Given the description of an element on the screen output the (x, y) to click on. 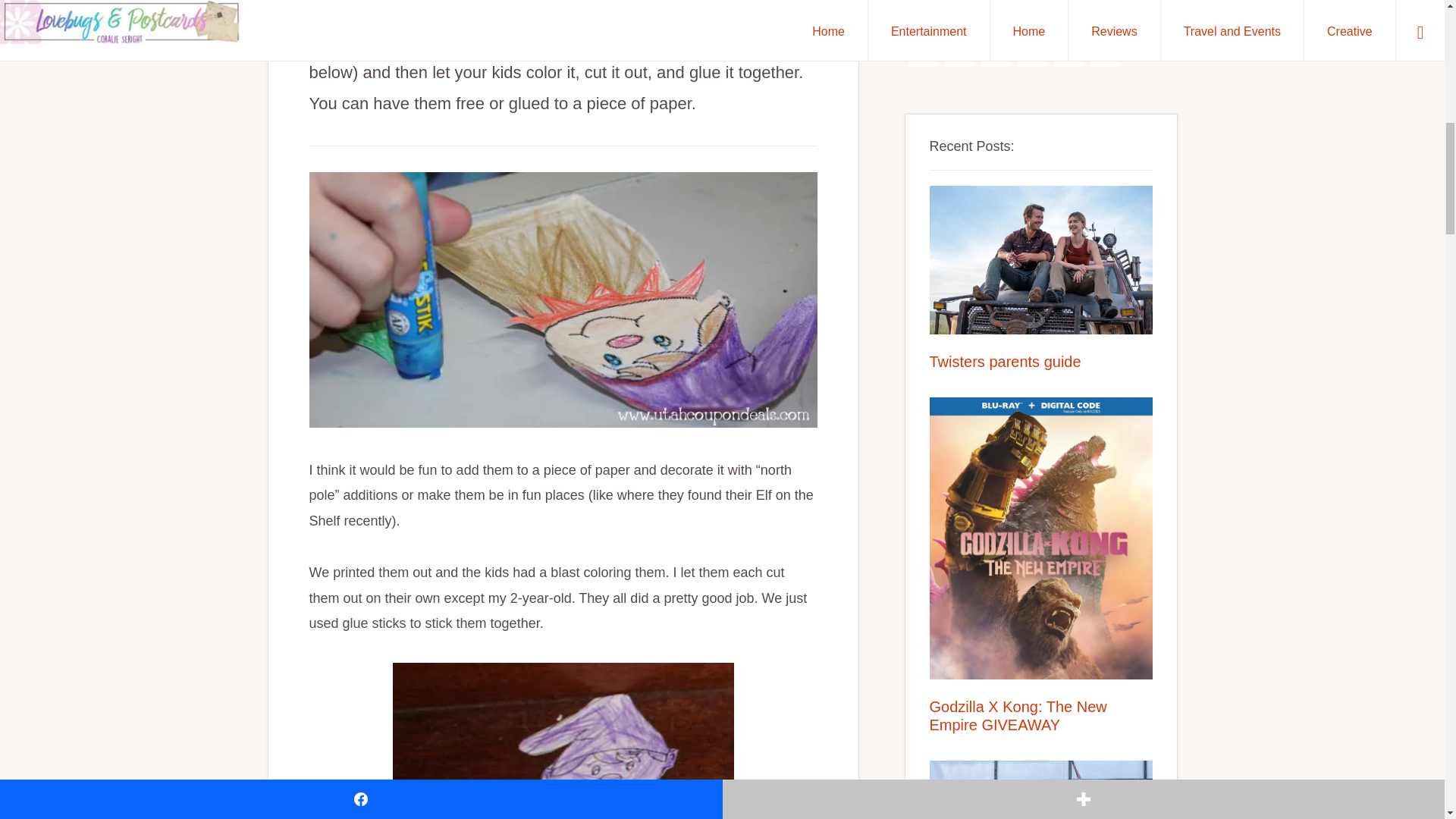
Printable Elf Craft  (563, 740)
Printable Elf Craft  (562, 299)
